Given the description of an element on the screen output the (x, y) to click on. 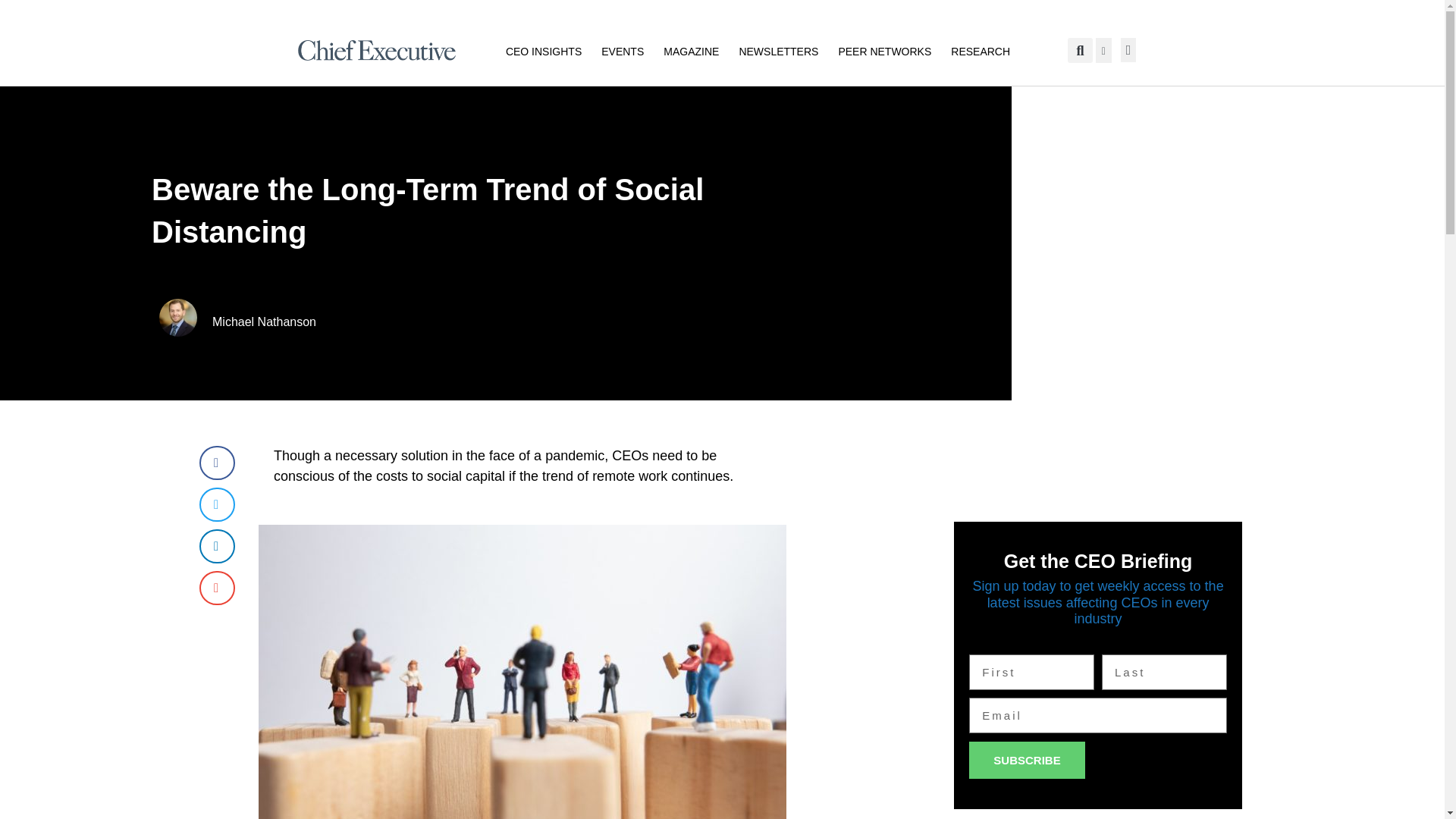
PEER NETWORKS (884, 50)
NEWSLETTERS (778, 50)
MAGAZINE (691, 50)
RESEARCH (980, 50)
EVENTS (622, 50)
CEO INSIGHTS (543, 50)
